Given the description of an element on the screen output the (x, y) to click on. 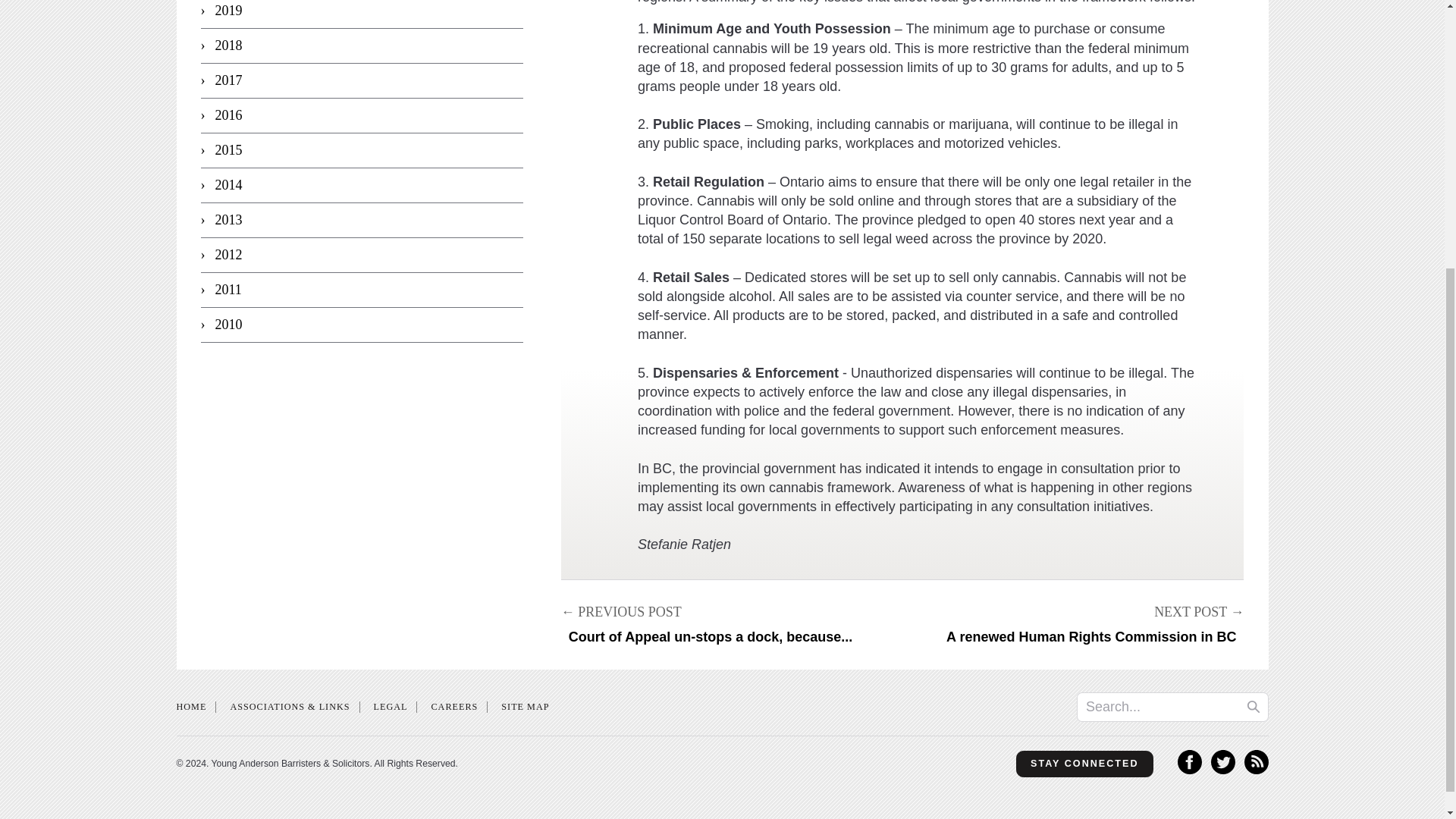
Subscribe to our RSS Feeds (1255, 769)
HOME (191, 706)
2012 (361, 255)
2010 (361, 325)
Stay connected and informed on the latest legal insights. (1084, 764)
CAREERS (453, 706)
SITE MAP (524, 706)
Twitter Icon (1221, 769)
A renewed Human Rights Commission in BC (1094, 624)
STAY CONNECTED (1084, 764)
Follow us on Twitter (1221, 769)
facebook Icon (1188, 761)
facebook Icon (1188, 769)
Twitter Icon (1221, 761)
2014 (361, 185)
